Given the description of an element on the screen output the (x, y) to click on. 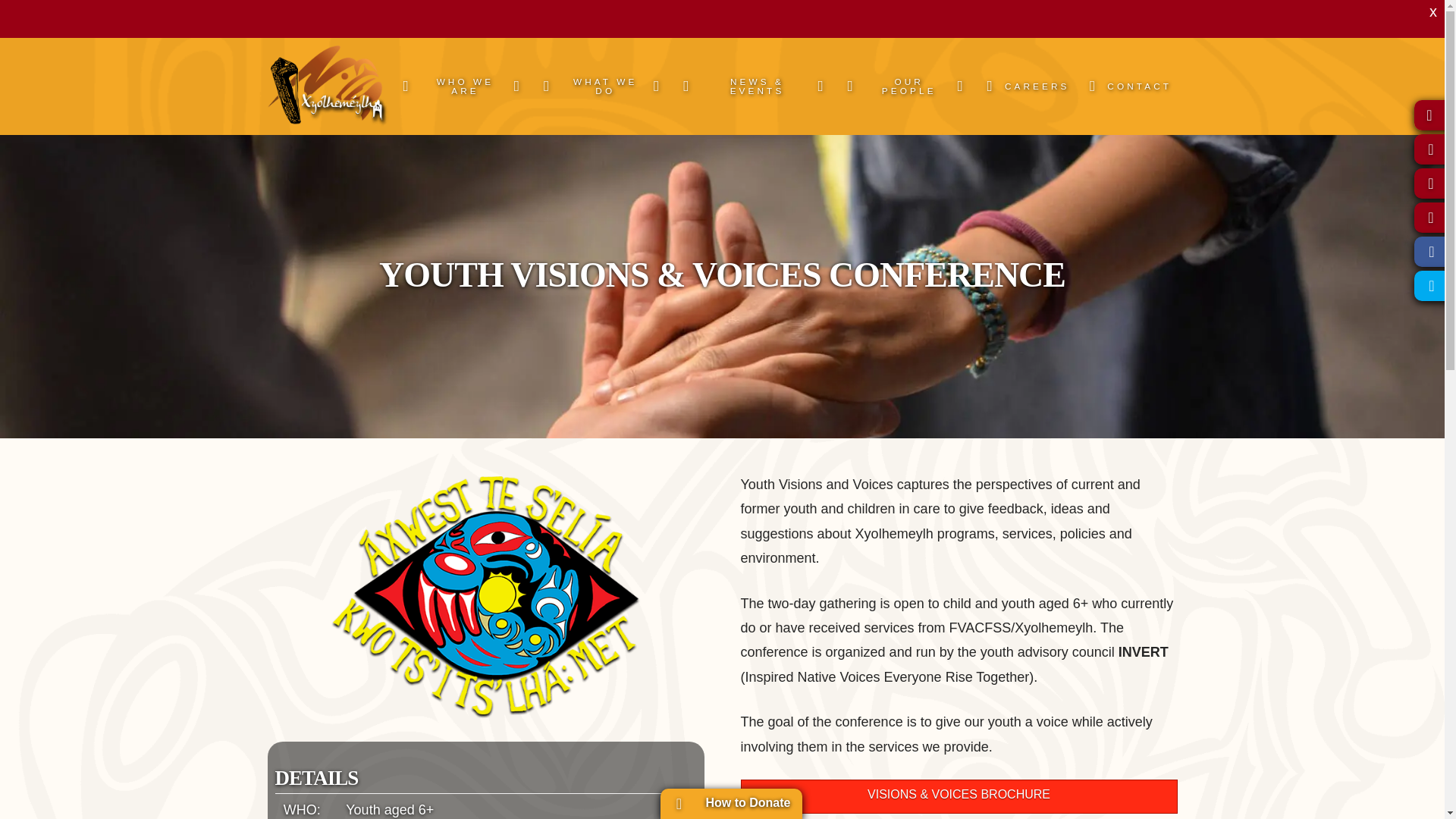
WHO WE ARE (458, 86)
CONTACT (1126, 86)
How to Donate (730, 803)
OUR PEOPLE (902, 86)
WHAT WE DO (598, 86)
CAREERS (1023, 86)
